Given the description of an element on the screen output the (x, y) to click on. 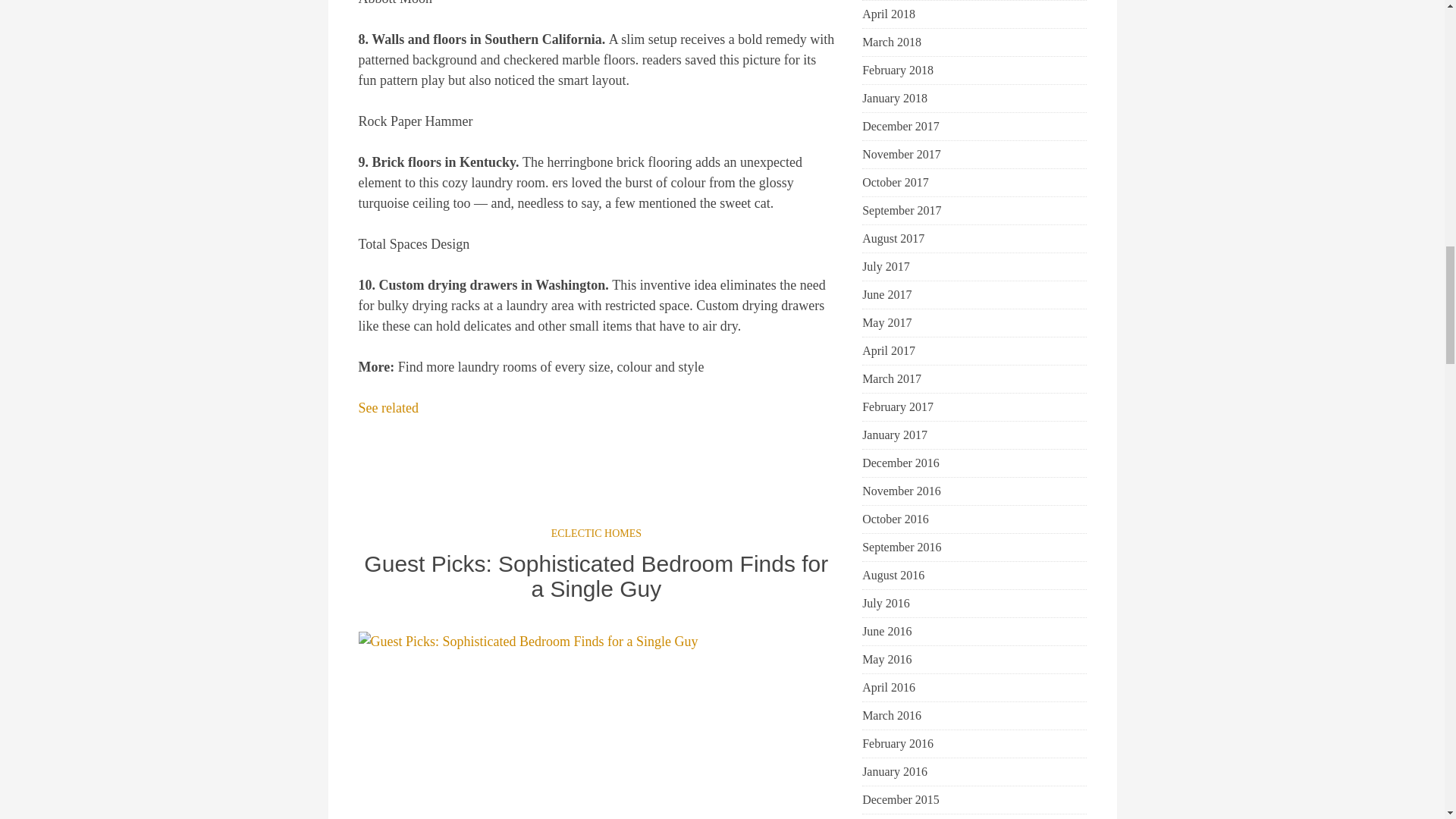
See related (387, 407)
Guest Picks: Sophisticated Bedroom Finds for a Single Guy (596, 576)
ECLECTIC HOMES (596, 532)
